Given the description of an element on the screen output the (x, y) to click on. 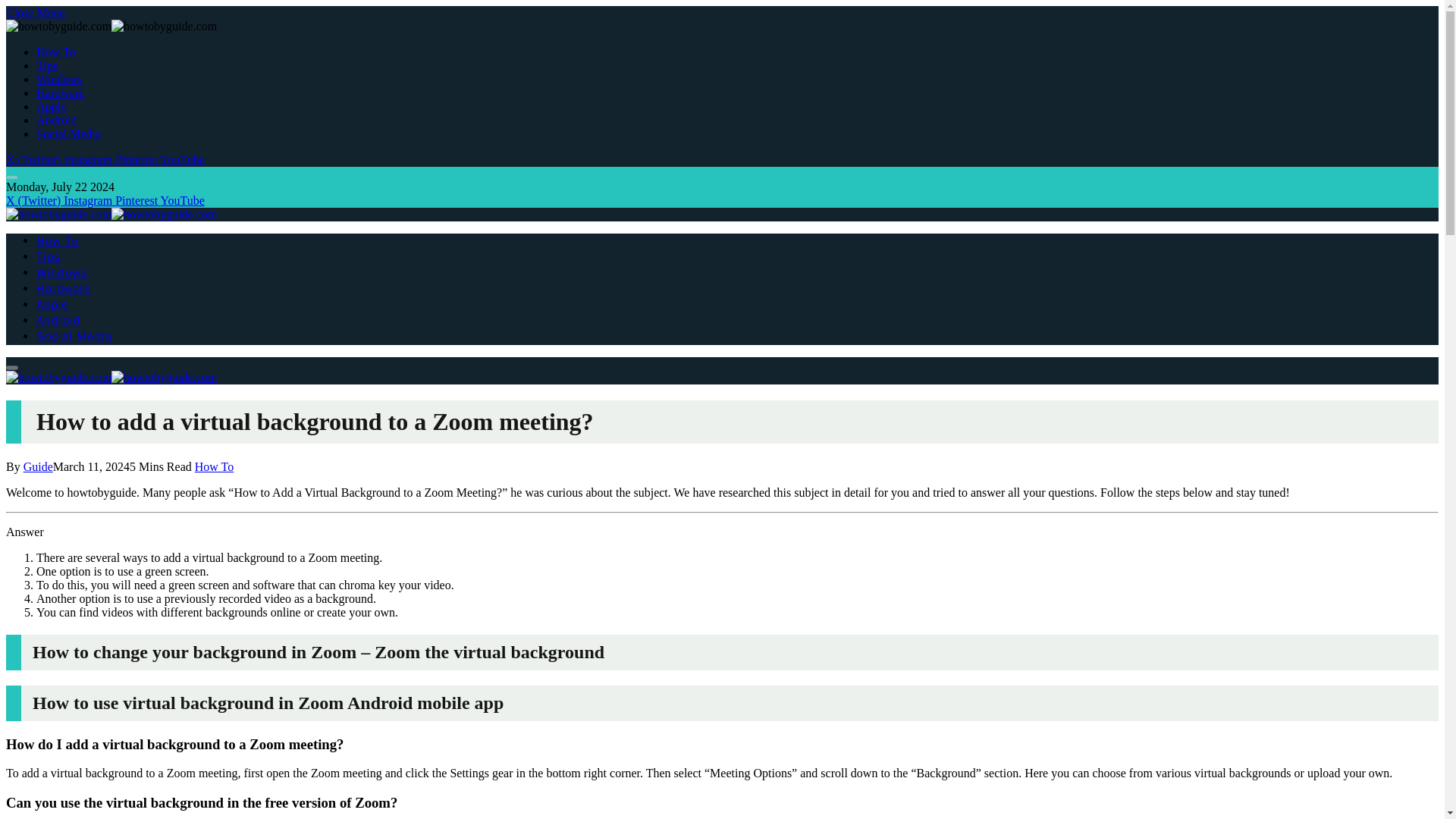
Pinterest (137, 200)
Pinterest (137, 159)
How To (55, 51)
Social Media (68, 133)
Hardware (60, 92)
Tips (48, 256)
YouTube (182, 159)
Android (56, 119)
YouTube (182, 200)
Windows (61, 272)
How To (213, 466)
Hardware (63, 288)
howtobyguide.com (110, 377)
Social Media (74, 336)
howtobyguide.com (110, 214)
